Given the description of an element on the screen output the (x, y) to click on. 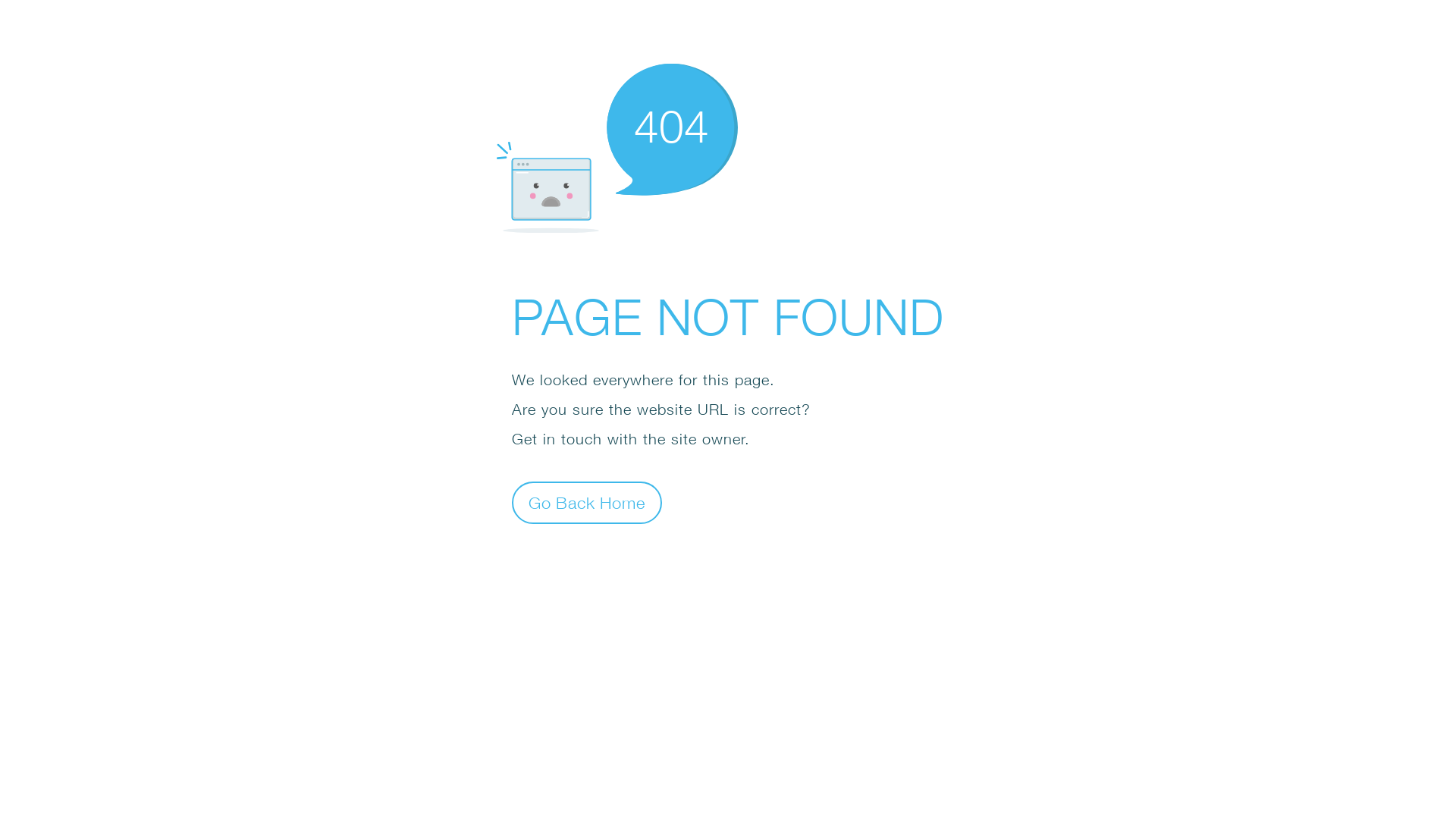
Go Back Home Element type: text (586, 502)
